Given the description of an element on the screen output the (x, y) to click on. 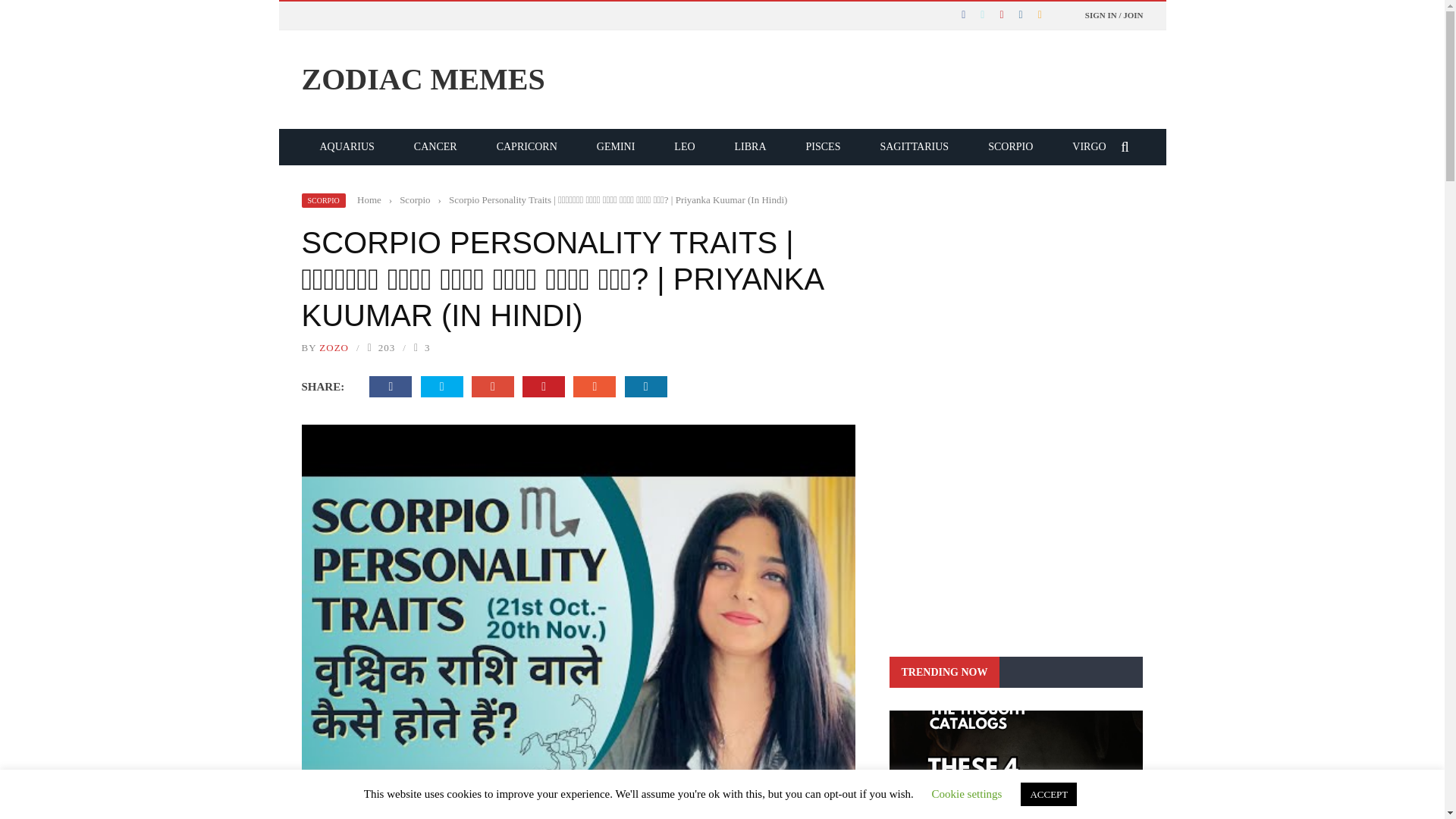
Stumbleupon (594, 386)
Linkedin (645, 386)
Twitter (441, 386)
AQUARIUS (347, 146)
Pinterest (543, 386)
Facebook (390, 386)
Google Plus (492, 386)
ZODIAC MEMES (721, 78)
